Given the description of an element on the screen output the (x, y) to click on. 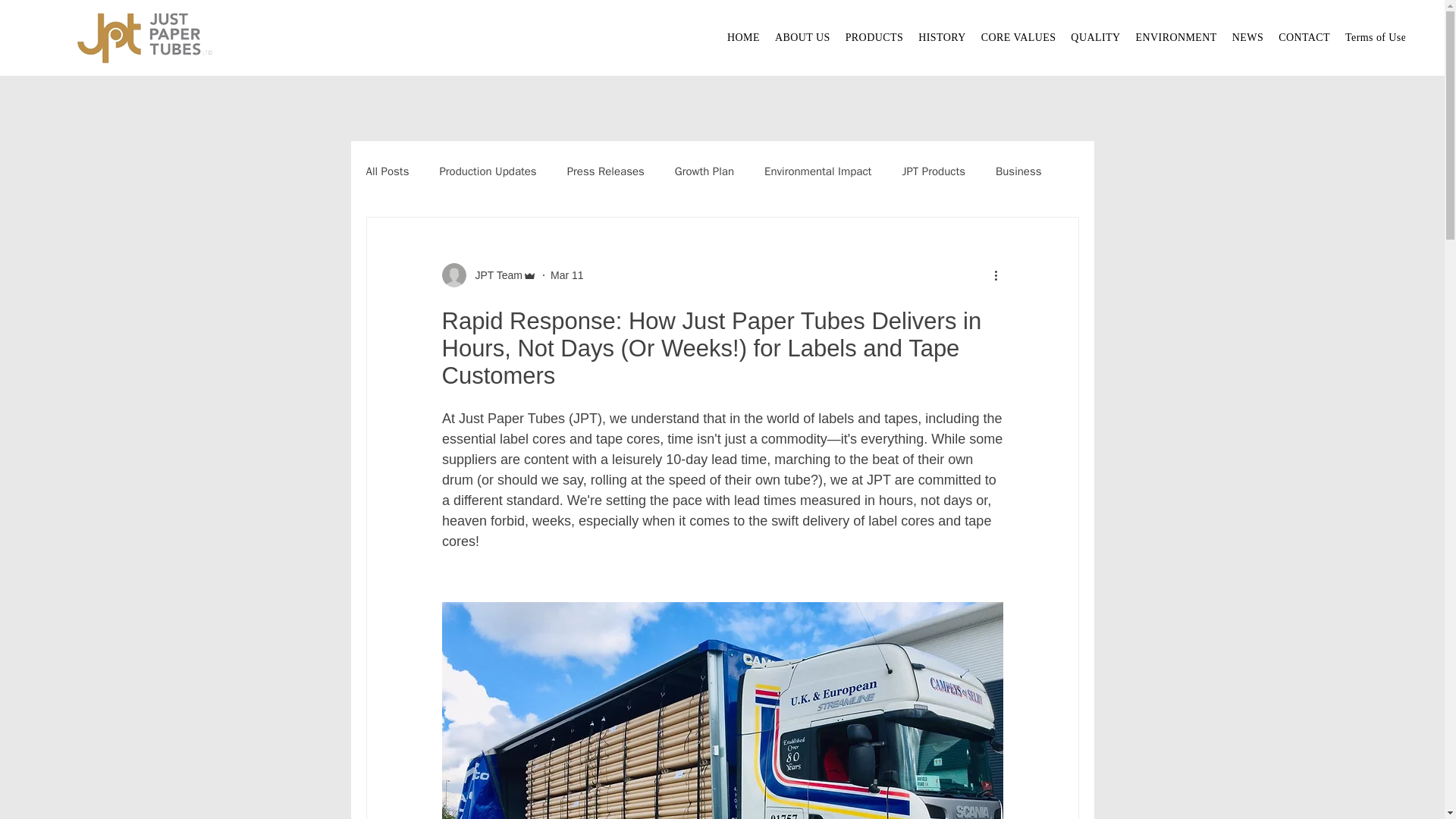
ENVIRONMENT (1176, 37)
All Posts (387, 170)
Environmental Impact (817, 170)
Terms of Use (1375, 37)
JPT Team (493, 274)
CORE VALUES (1019, 37)
PRODUCTS (874, 37)
Mar 11 (566, 274)
NEWS (1247, 37)
JPT Products (933, 170)
